Given the description of an element on the screen output the (x, y) to click on. 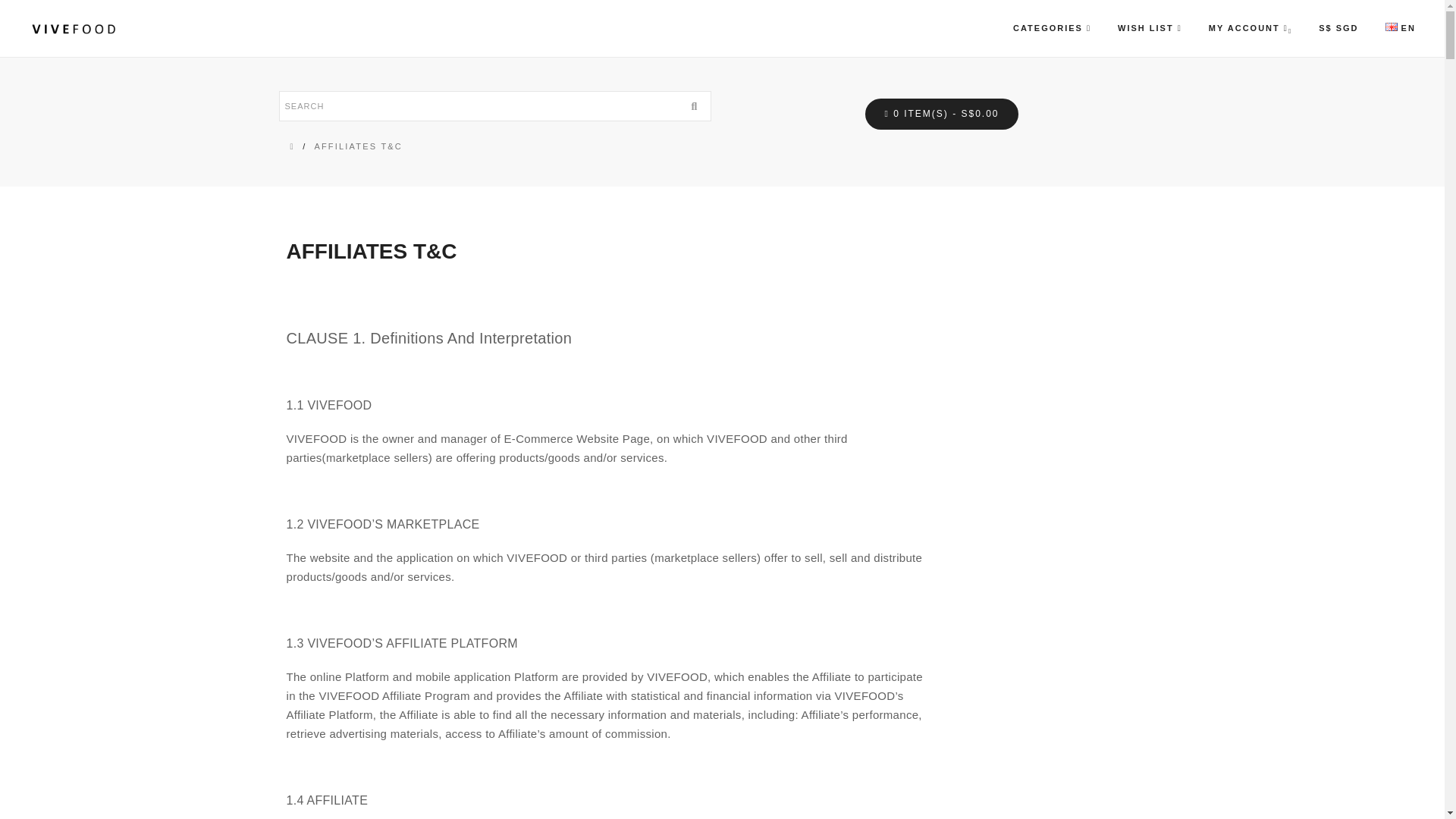
CATEGORIES (1049, 28)
MY ACCOUNT (1248, 28)
WISH LIST (1147, 28)
My Account (1248, 28)
English (1391, 26)
Wish List (1147, 28)
